Given the description of an element on the screen output the (x, y) to click on. 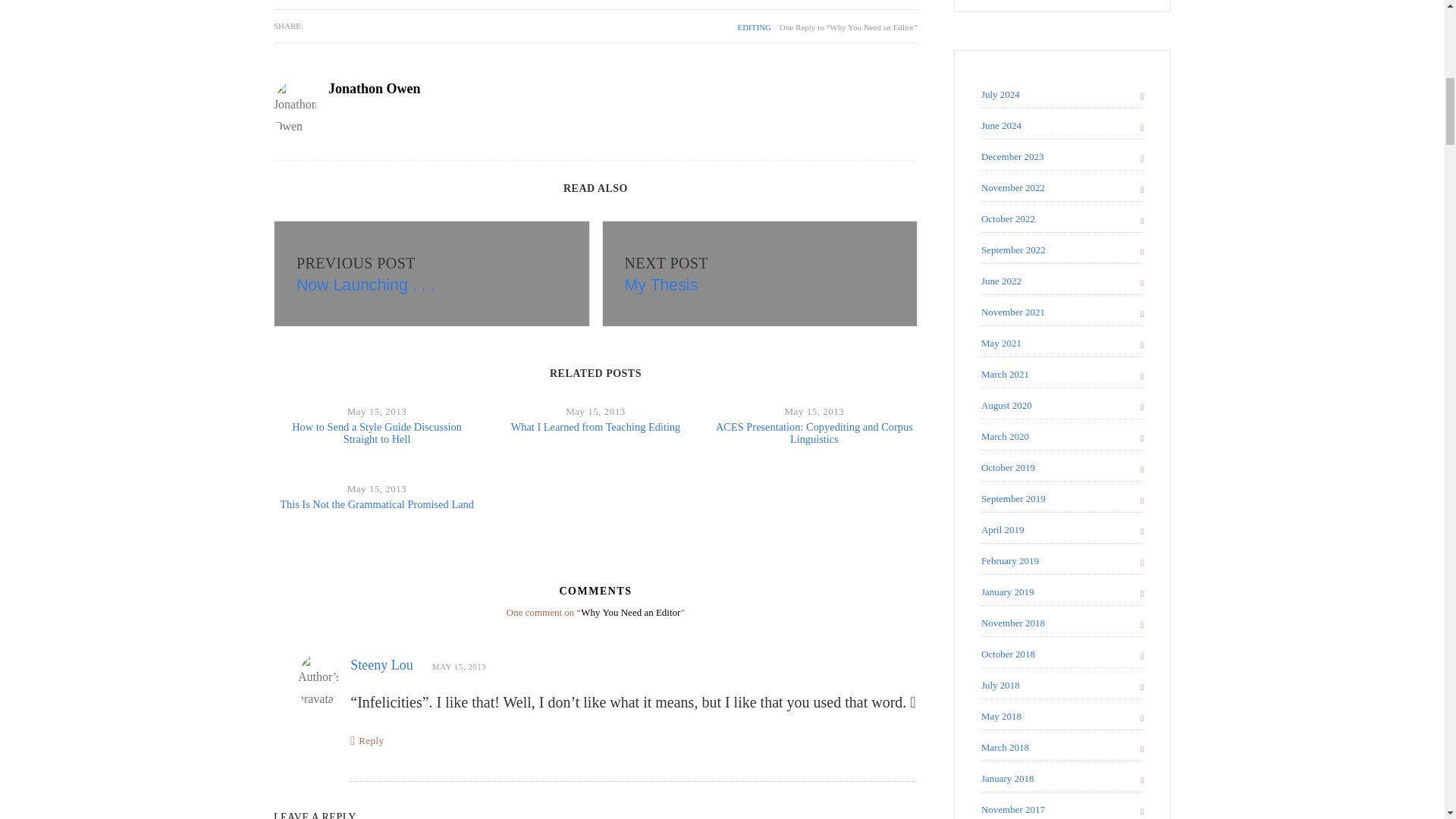
My Thesis (760, 273)
Why You Need an Editor (365, 285)
View all posts under this category. (753, 26)
ACES Presentation: Copyediting and Corpus Linguistics (814, 432)
Why You Need an Editor (431, 273)
My Thesis (661, 285)
Reply (371, 740)
Now Launching . . . (365, 285)
What I Learned from Teaching Editing (596, 426)
Why You Need an Editor (661, 285)
